Given the description of an element on the screen output the (x, y) to click on. 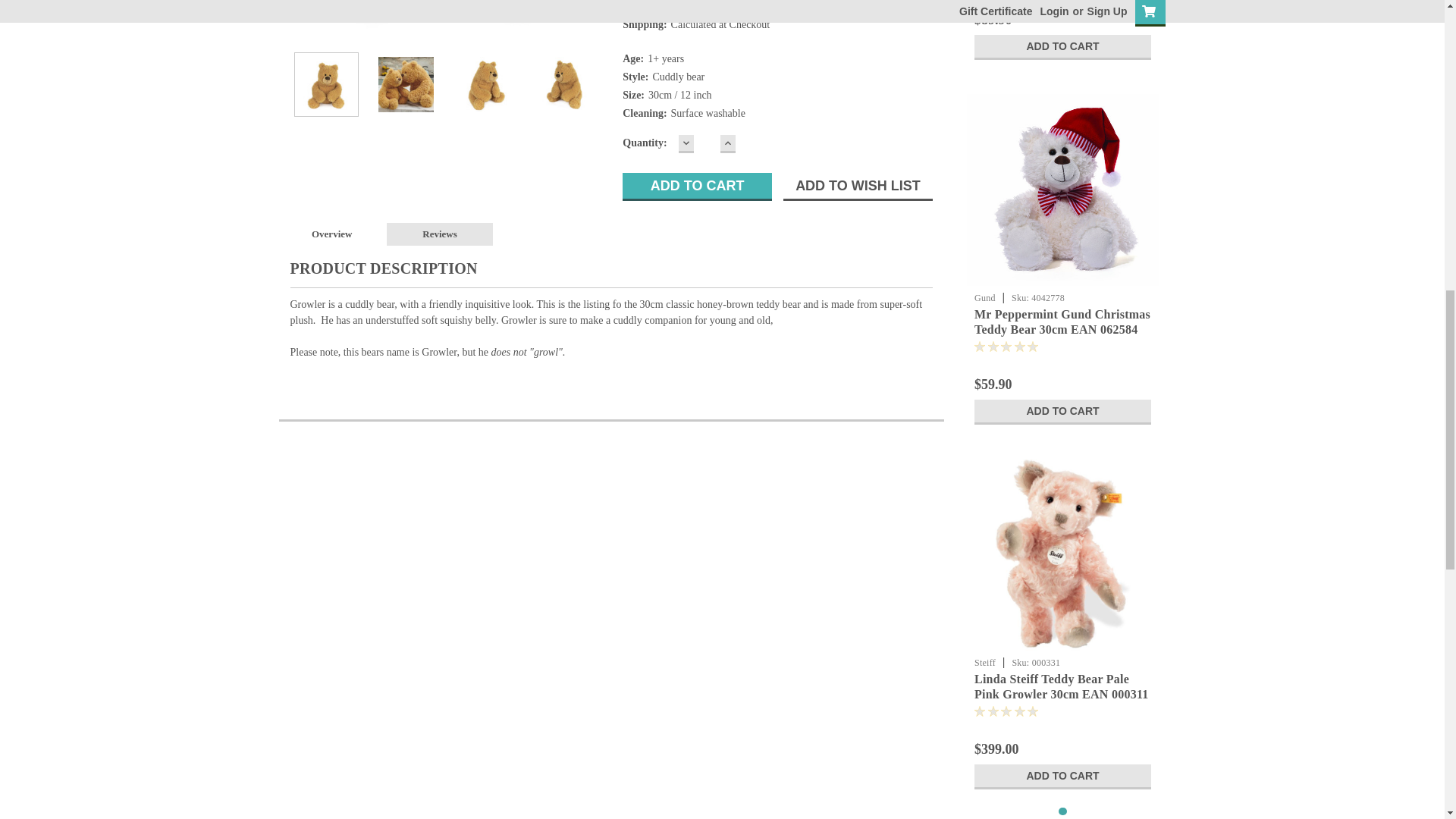
1 (707, 143)
Growler Gund Teddy Bear 30cm EAN 409596 side view (564, 84)
Growler Gund Teddy Bear 30cm EAN 409596 (325, 84)
Add to Cart (697, 186)
Side, Growler Gund Teddy Bear 30cm EAN 409596 (485, 84)
Growler Gund Teddy Bear 30cm EAN 409596 (445, 20)
